Given the description of an element on the screen output the (x, y) to click on. 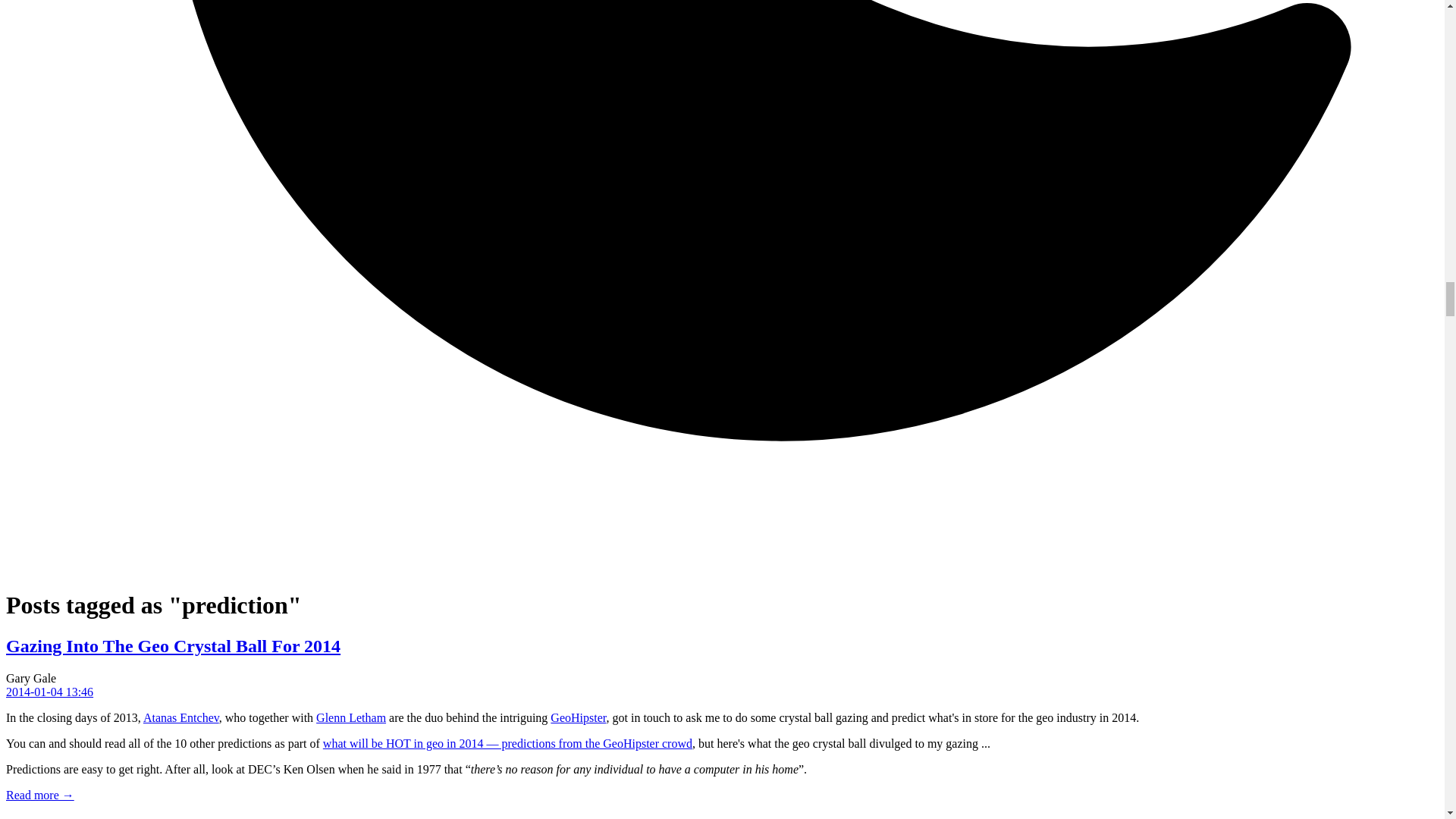
2014-01-04 13:46 (49, 691)
GeoHipster (577, 717)
Glenn Letham (350, 717)
Atanas Entchev (180, 717)
